Given the description of an element on the screen output the (x, y) to click on. 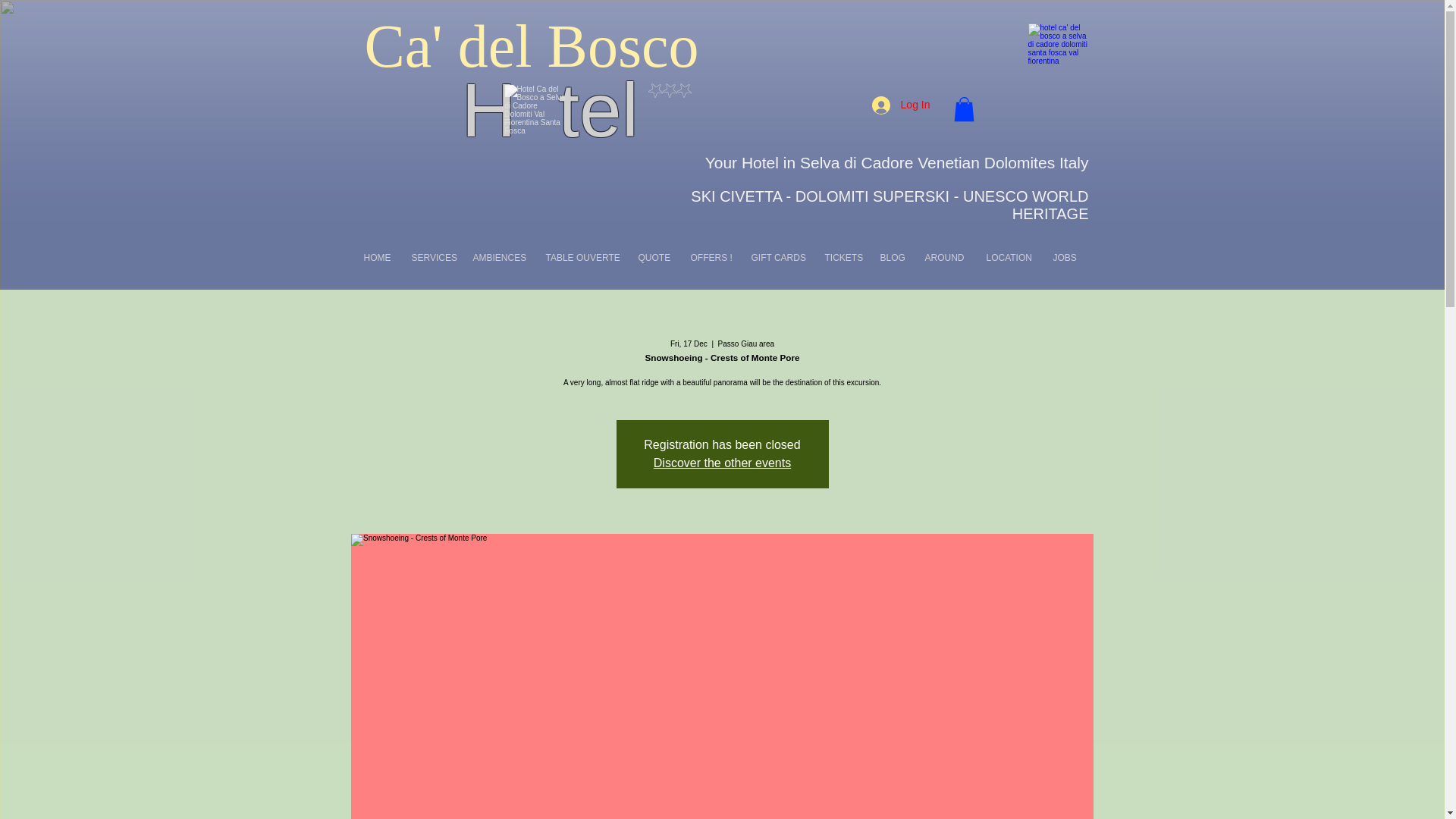
TABLE OUVERTE (584, 258)
OFFERS ! (712, 258)
TICKETS (844, 258)
Discover the other events (721, 462)
Log In (900, 103)
QUOTE (656, 258)
HOME (380, 258)
GIFT CARDS (779, 258)
Hotel Ca' del Bosco offers hospitality since 2001 (1058, 56)
BLOG (894, 258)
